Given the description of an element on the screen output the (x, y) to click on. 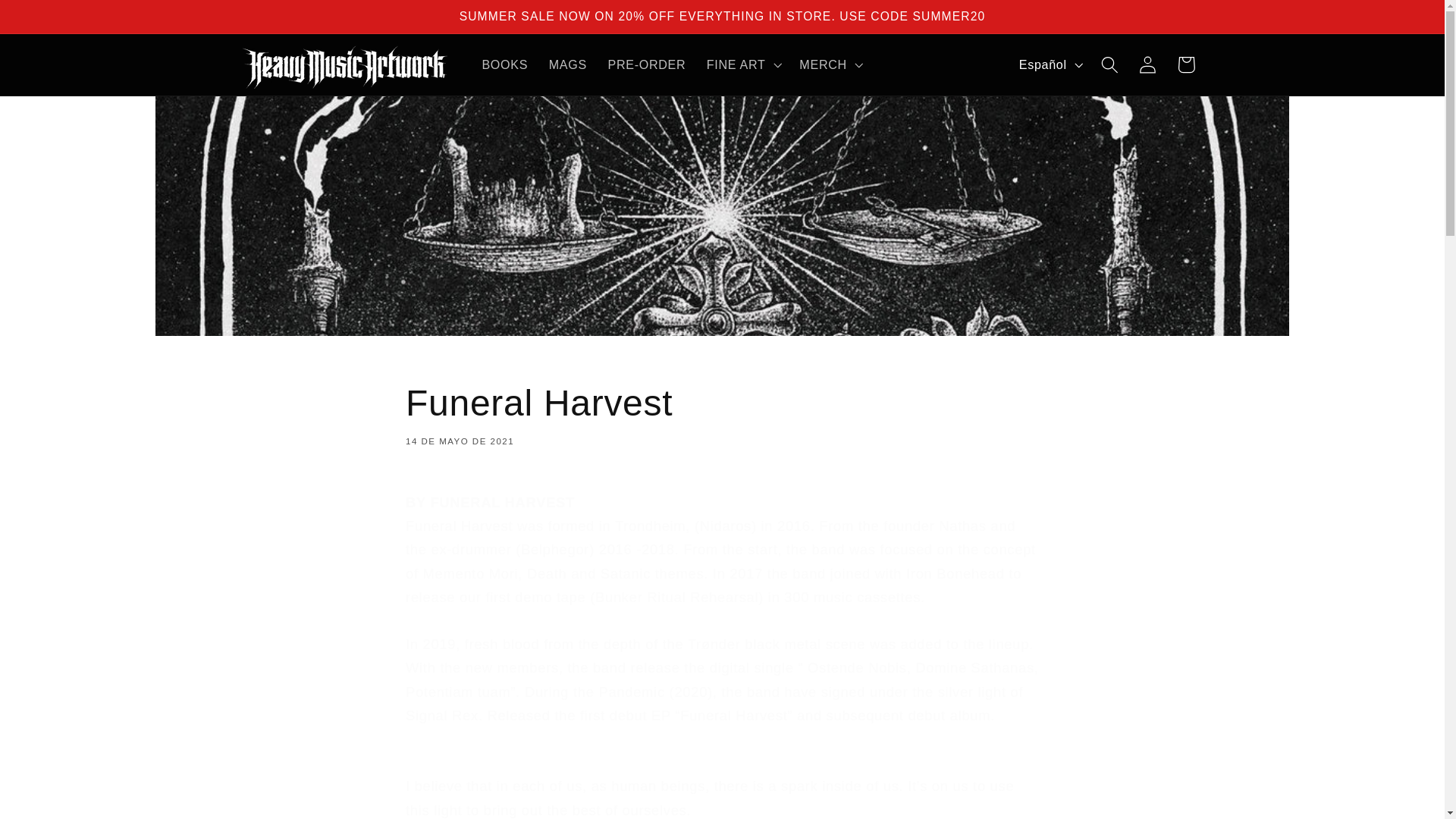
BOOKS (504, 63)
Carrito (1186, 64)
Ir directamente al contenido (52, 20)
MAGS (567, 63)
PRE-ORDER (722, 413)
